Given the description of an element on the screen output the (x, y) to click on. 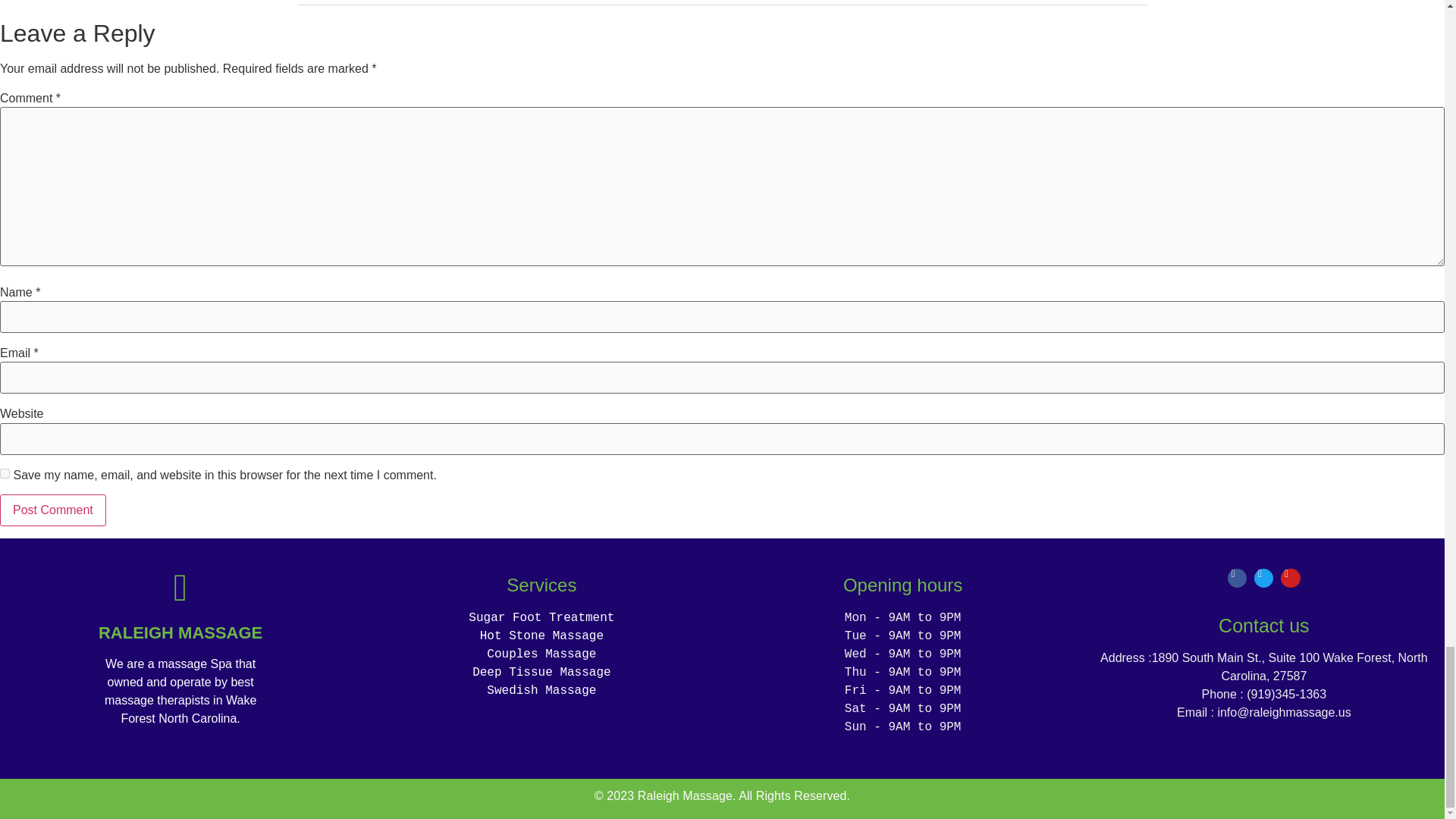
Post Comment (53, 510)
yes (5, 473)
Deep Tissue Massage (540, 672)
Couples Massage (540, 653)
Sugar Foot Treatment (541, 617)
Hot Stone Massage (542, 635)
Swedish Massage (540, 690)
